Given the description of an element on the screen output the (x, y) to click on. 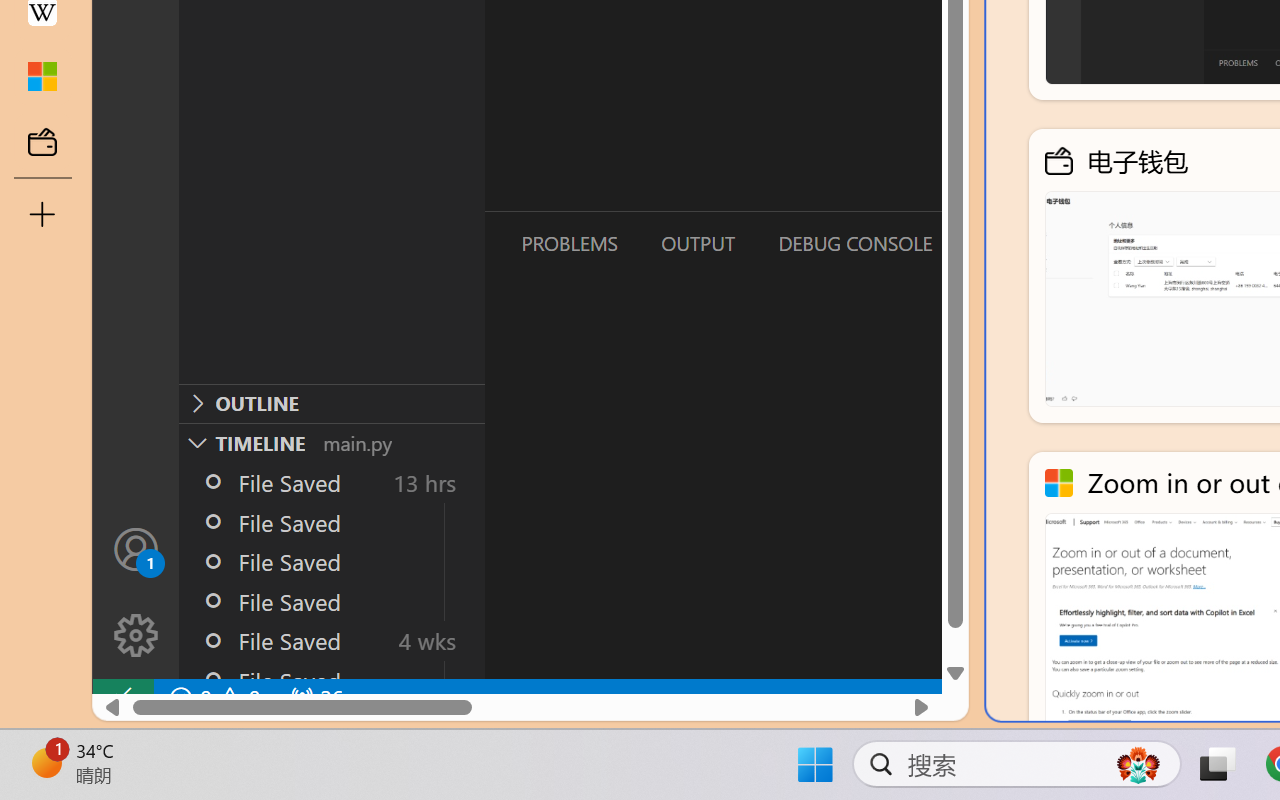
Debug Console (Ctrl+Shift+Y) (854, 243)
Accounts - Sign in requested (135, 548)
Outline Section (331, 403)
remote (122, 698)
Manage (135, 635)
Output (Ctrl+Shift+U) (696, 243)
Timeline Section (331, 442)
No Problems (212, 698)
Problems (Ctrl+Shift+M) (567, 243)
